Given the description of an element on the screen output the (x, y) to click on. 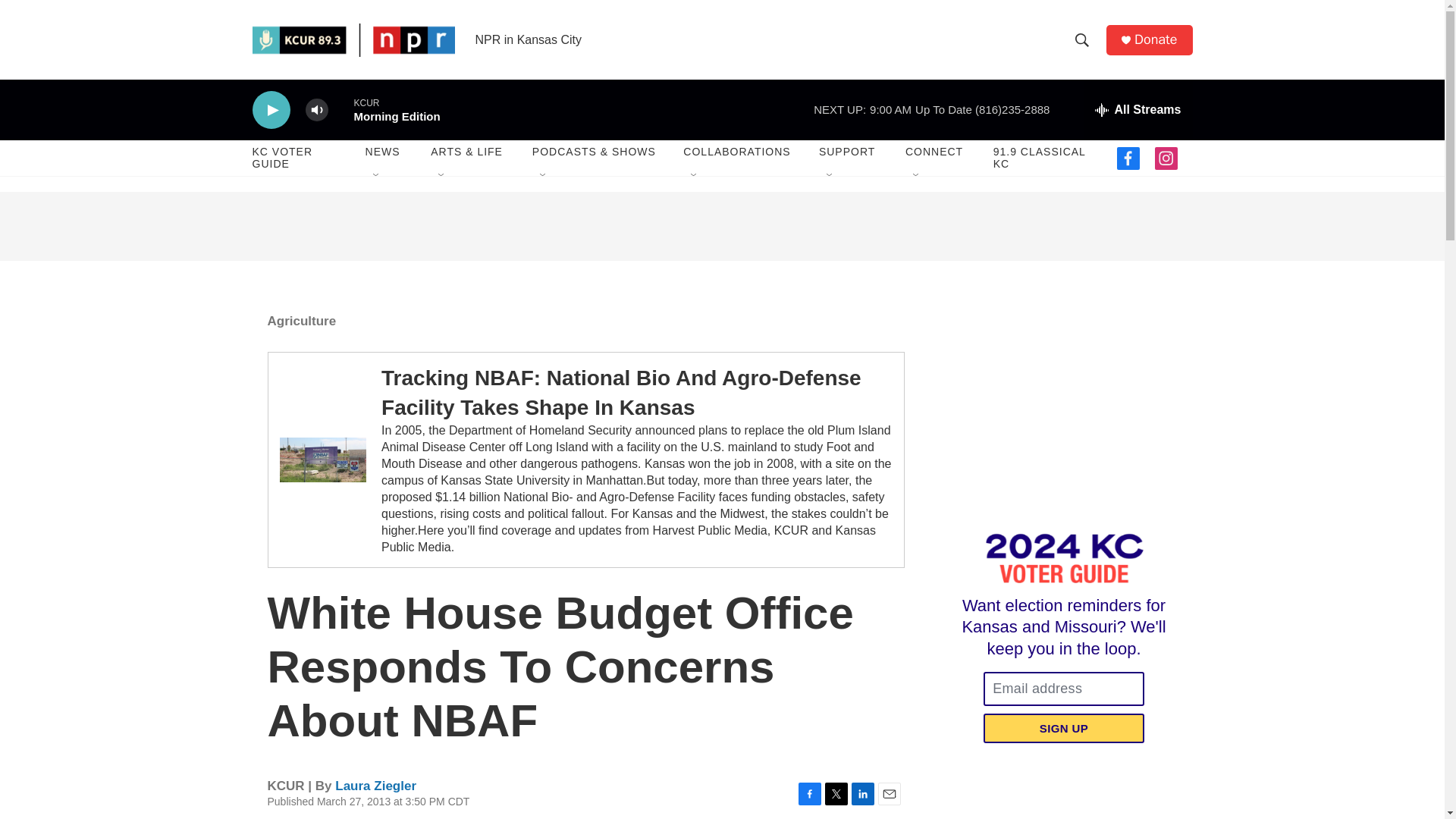
3rd party ad content (1062, 401)
3rd party ad content (721, 226)
